Given the description of an element on the screen output the (x, y) to click on. 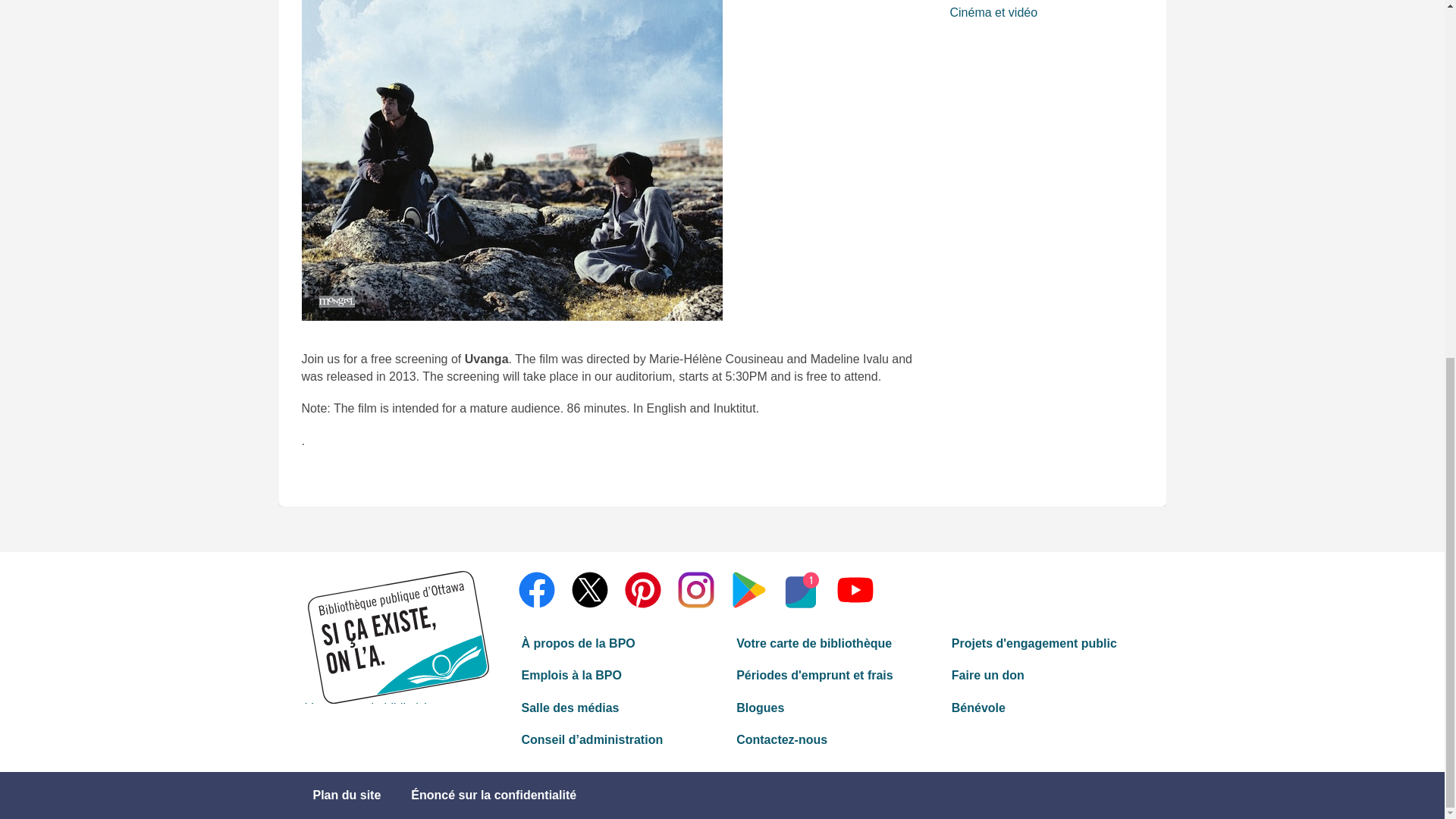
Suivez la BPO sur Twitter (589, 589)
Suivez la BPO sur Instagram (695, 589)
Telecharger notre application IOS (802, 589)
Suivez la BPO sur YouTube (854, 589)
Telecharger notre application Android (748, 589)
Suivez la BPO sur Pinterest (642, 589)
Suivez la BPO sur Facebook (535, 589)
